Given the description of an element on the screen output the (x, y) to click on. 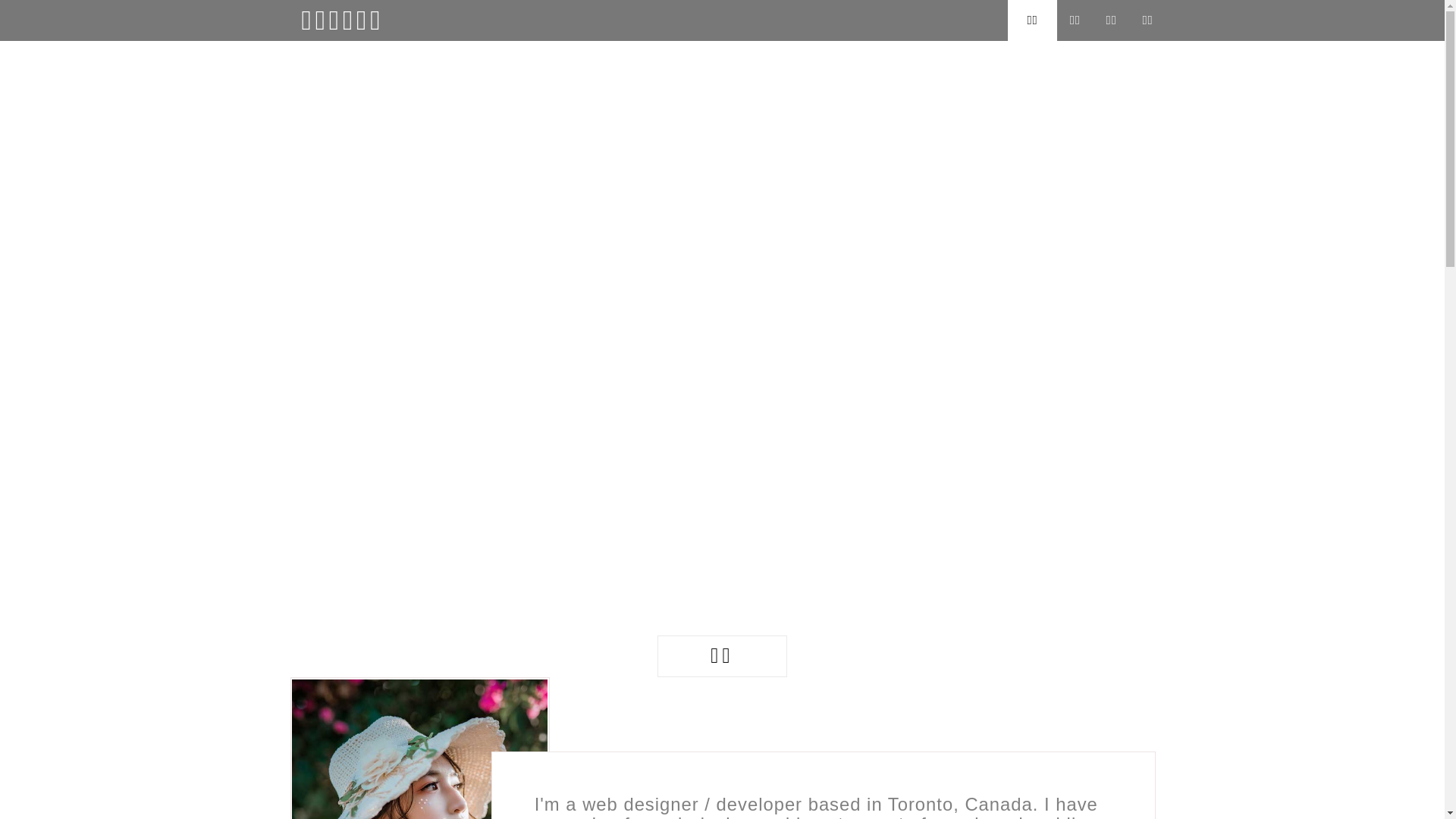
gt Element type: text (313, 744)
